Given the description of an element on the screen output the (x, y) to click on. 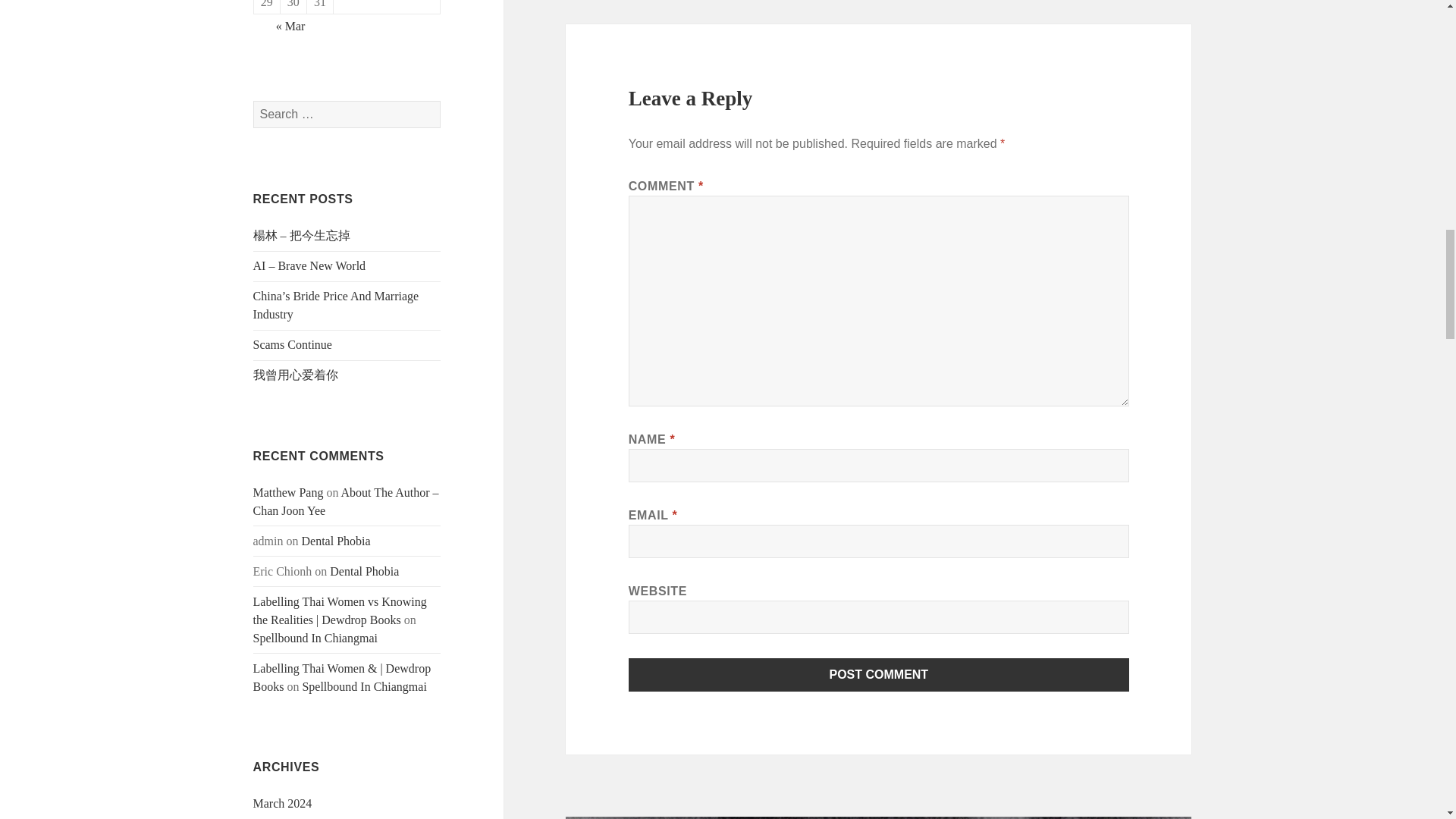
Post Comment (878, 674)
